Given the description of an element on the screen output the (x, y) to click on. 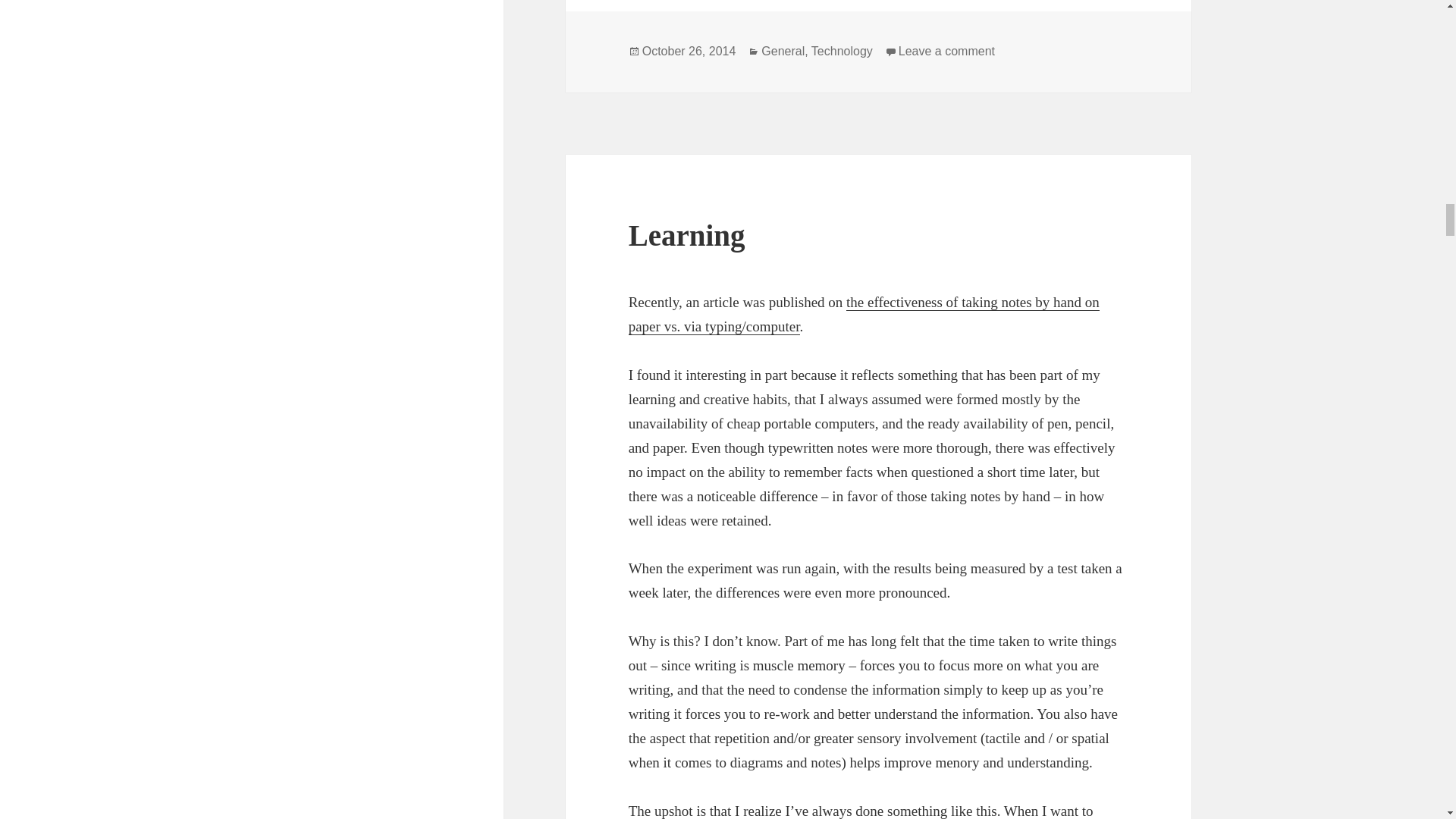
Huffington Post: Ink on Paper: Some Notes on Note-taking (863, 314)
